Given the description of an element on the screen output the (x, y) to click on. 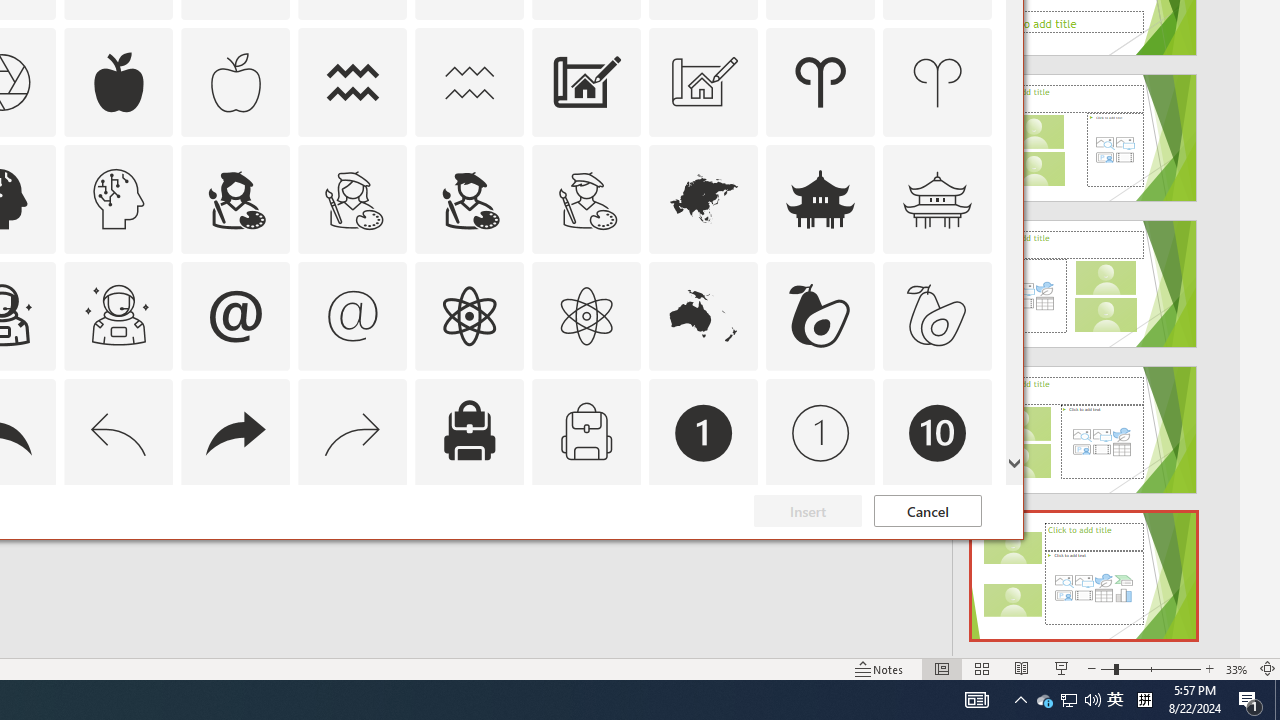
AutomationID: Icons_ArtistMale_M (586, 198)
AutomationID: Icons_AsianTemple (820, 198)
AutomationID: Icons_Badge7_M (469, 550)
AutomationID: Icons_At (235, 316)
